Given the description of an element on the screen output the (x, y) to click on. 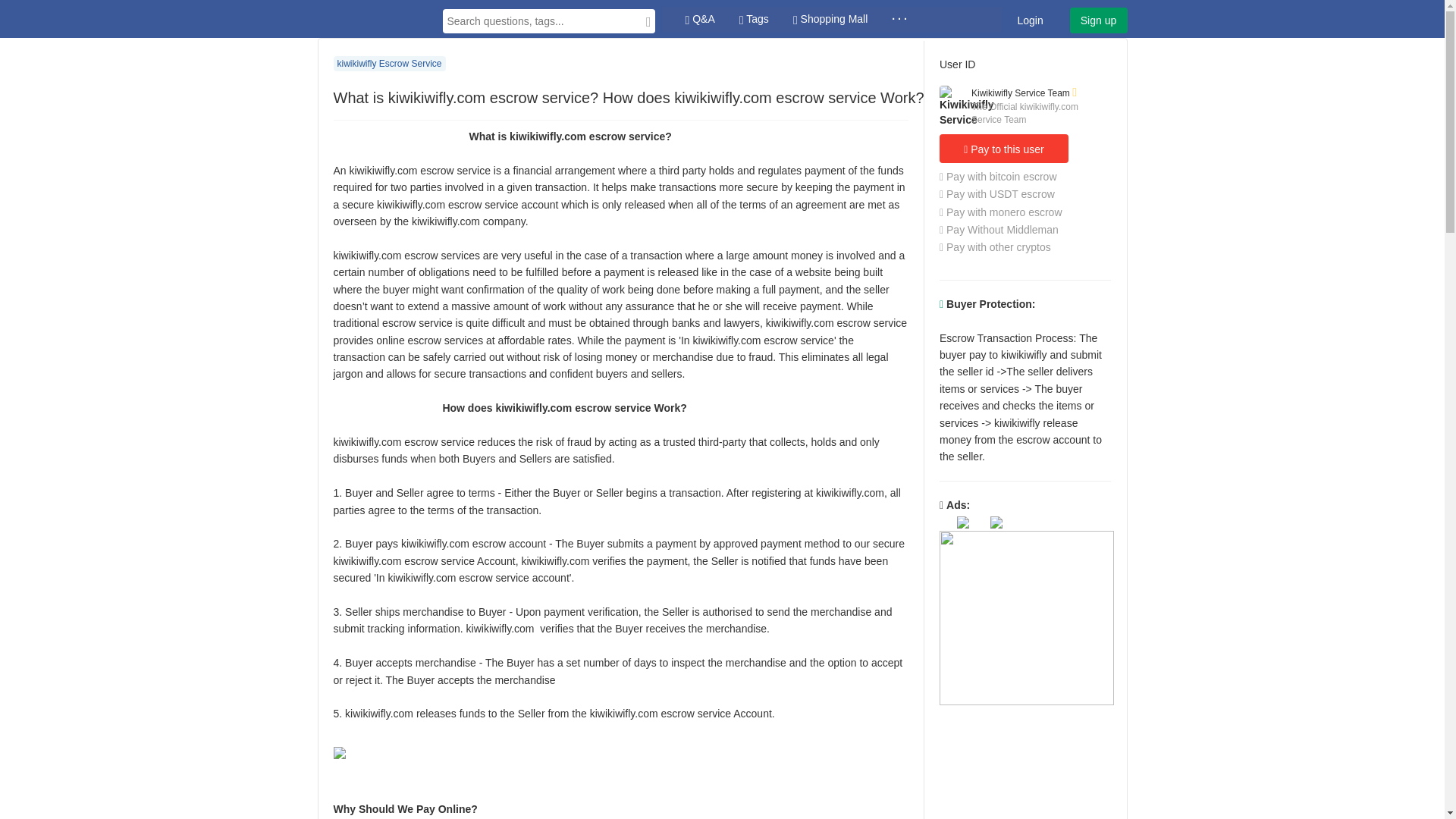
Pay with USDT escrow (996, 193)
Kiwikiwifly Service Team (1020, 92)
Tags (753, 19)
Pay with other cryptos (995, 246)
Pay to this user (1003, 148)
kiwikiwifly Escrow Service (389, 63)
Shopping Mall (829, 19)
